Given the description of an element on the screen output the (x, y) to click on. 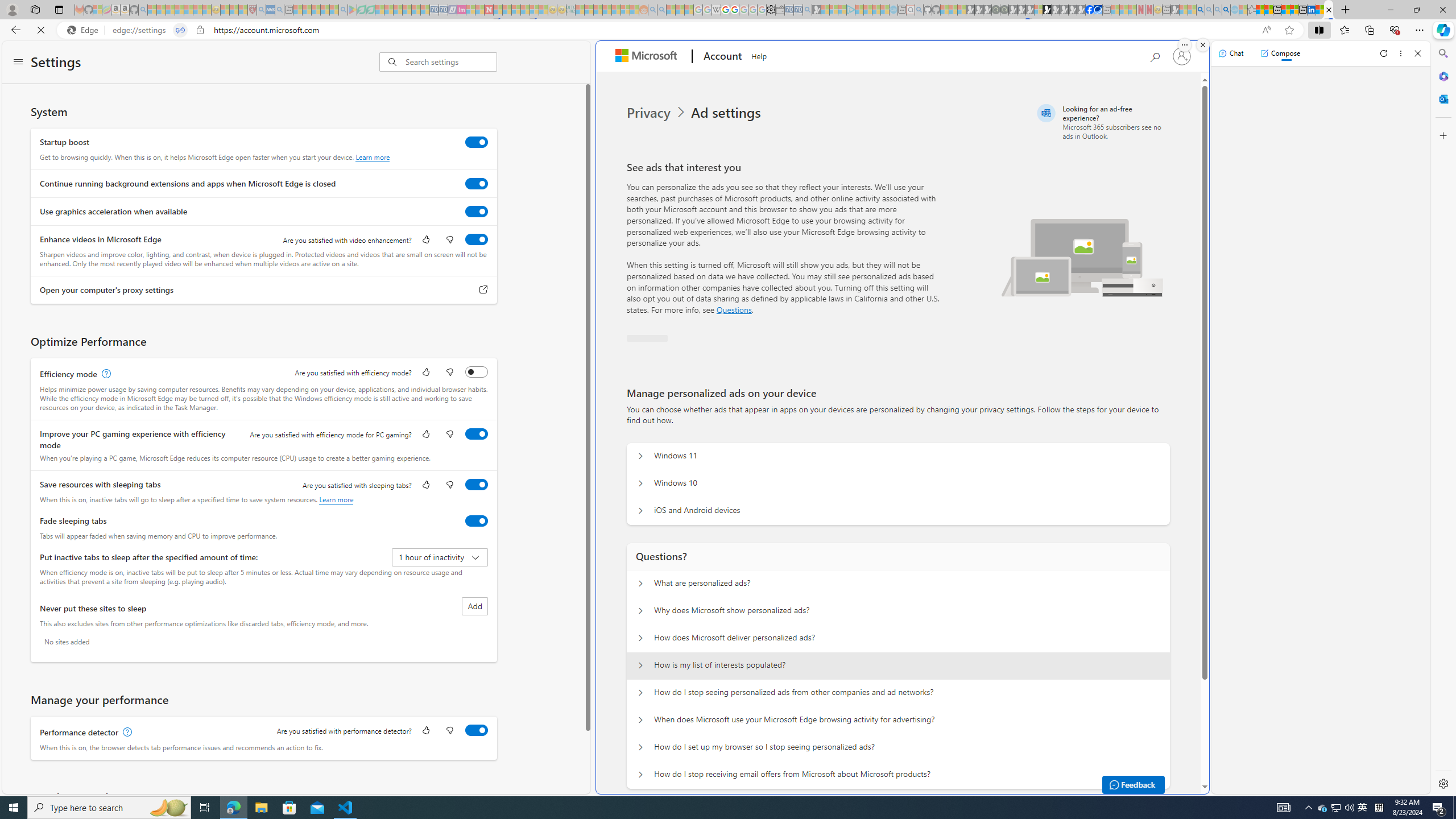
Performance detector (476, 730)
Startup boost (476, 142)
Latest Politics News & Archive | Newsweek.com - Sleeping (488, 9)
Questions? How is my list of interests populated? (640, 665)
New Report Confirms 2023 Was Record Hot | Watch - Sleeping (188, 9)
Kinda Frugal - MSN - Sleeping (616, 9)
